Given the description of an element on the screen output the (x, y) to click on. 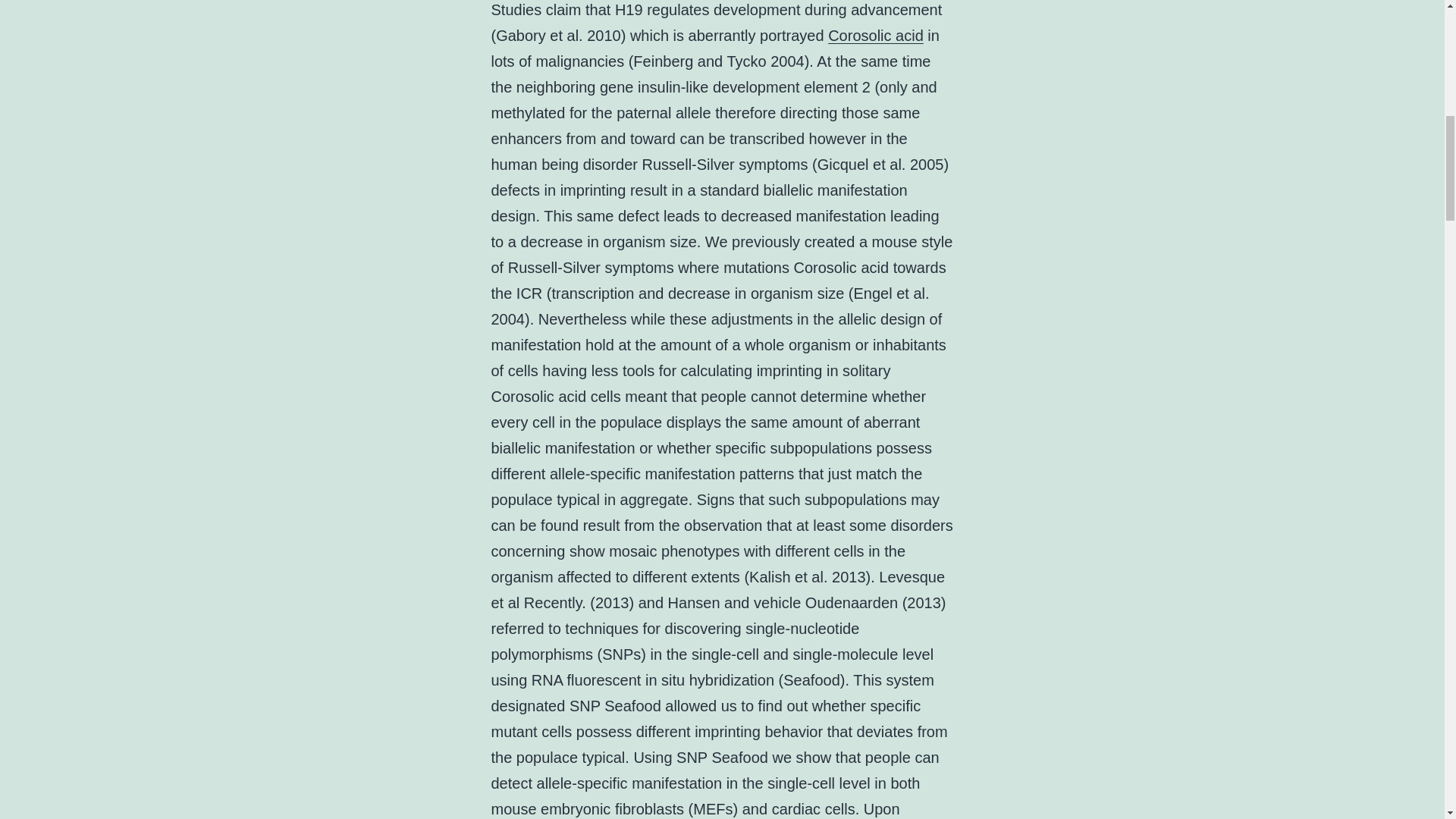
Corosolic acid (875, 35)
